Given the description of an element on the screen output the (x, y) to click on. 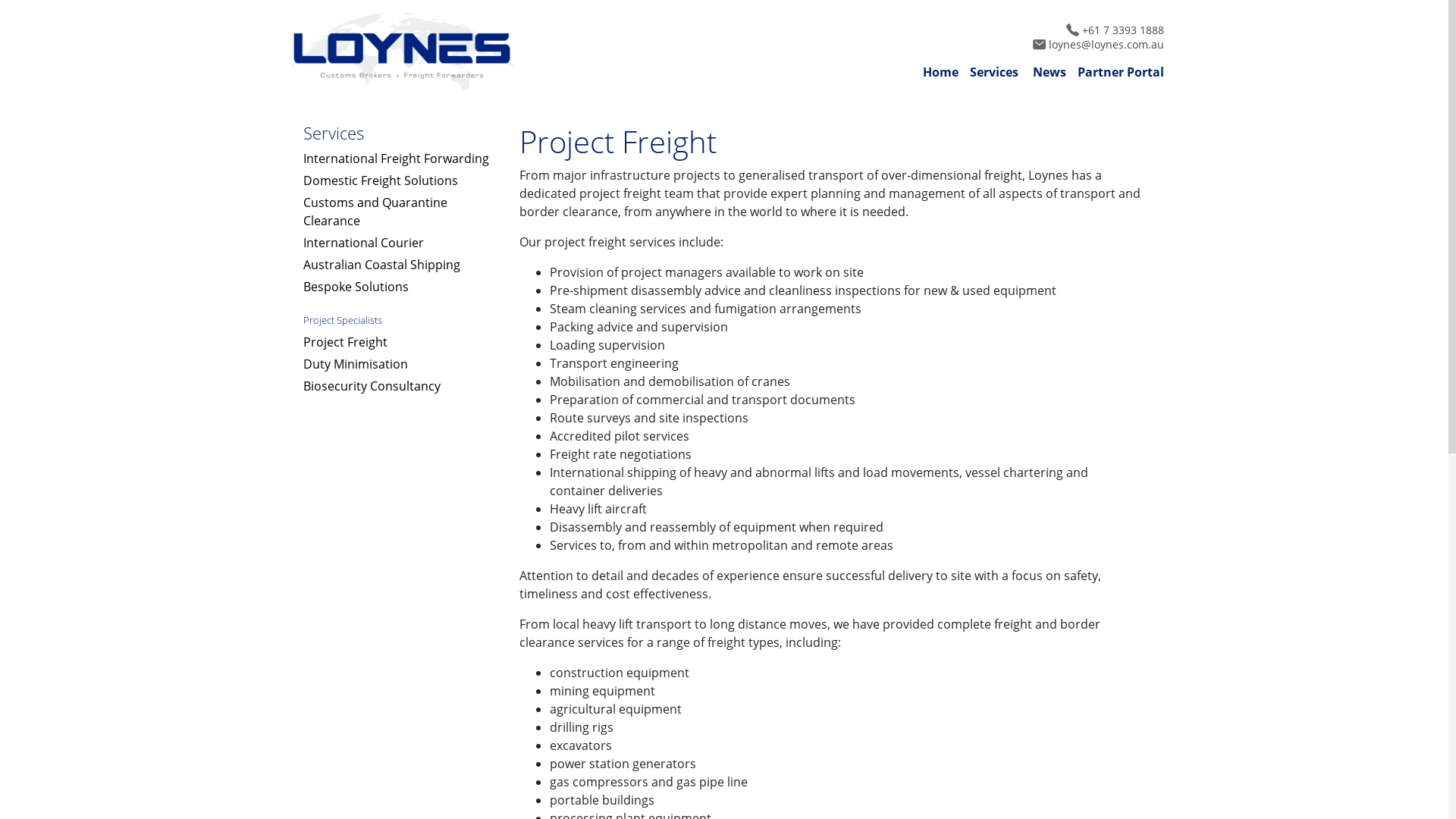
International Courier Element type: text (363, 242)
Customs and Quarantine Clearance Element type: text (375, 211)
Project Freight Element type: text (345, 341)
Home
(current) Element type: text (940, 71)
International Freight Forwarding Element type: text (396, 158)
International Freight Forwarding Element type: text (1079, 95)
Duty Minimisation Element type: text (355, 363)
Biosecurity Consultancy Element type: text (371, 385)
Services Element type: text (995, 71)
Australian Coastal Shipping Element type: text (381, 264)
+61 7 3393 1888 Element type: text (1048, 29)
loynes@loynes.com.au Element type: text (1048, 44)
News
(current) Element type: text (1049, 71)
Bespoke Solutions Element type: text (355, 286)
Domestic Freight Solutions Element type: text (380, 180)
Partner Portal
(current) Element type: text (1120, 71)
